Given the description of an element on the screen output the (x, y) to click on. 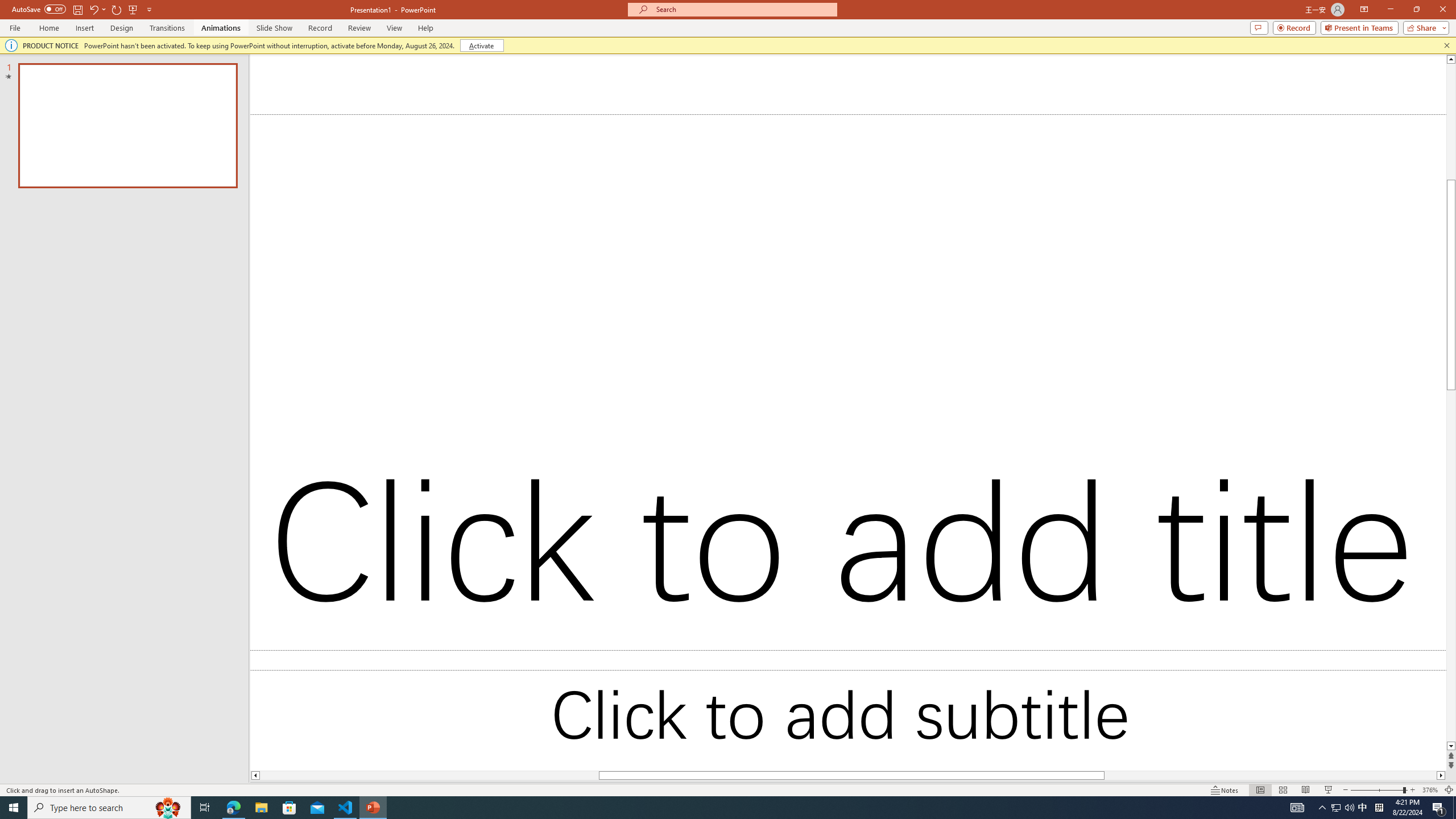
Activate (481, 45)
Zoom 376% (1430, 790)
